Given the description of an element on the screen output the (x, y) to click on. 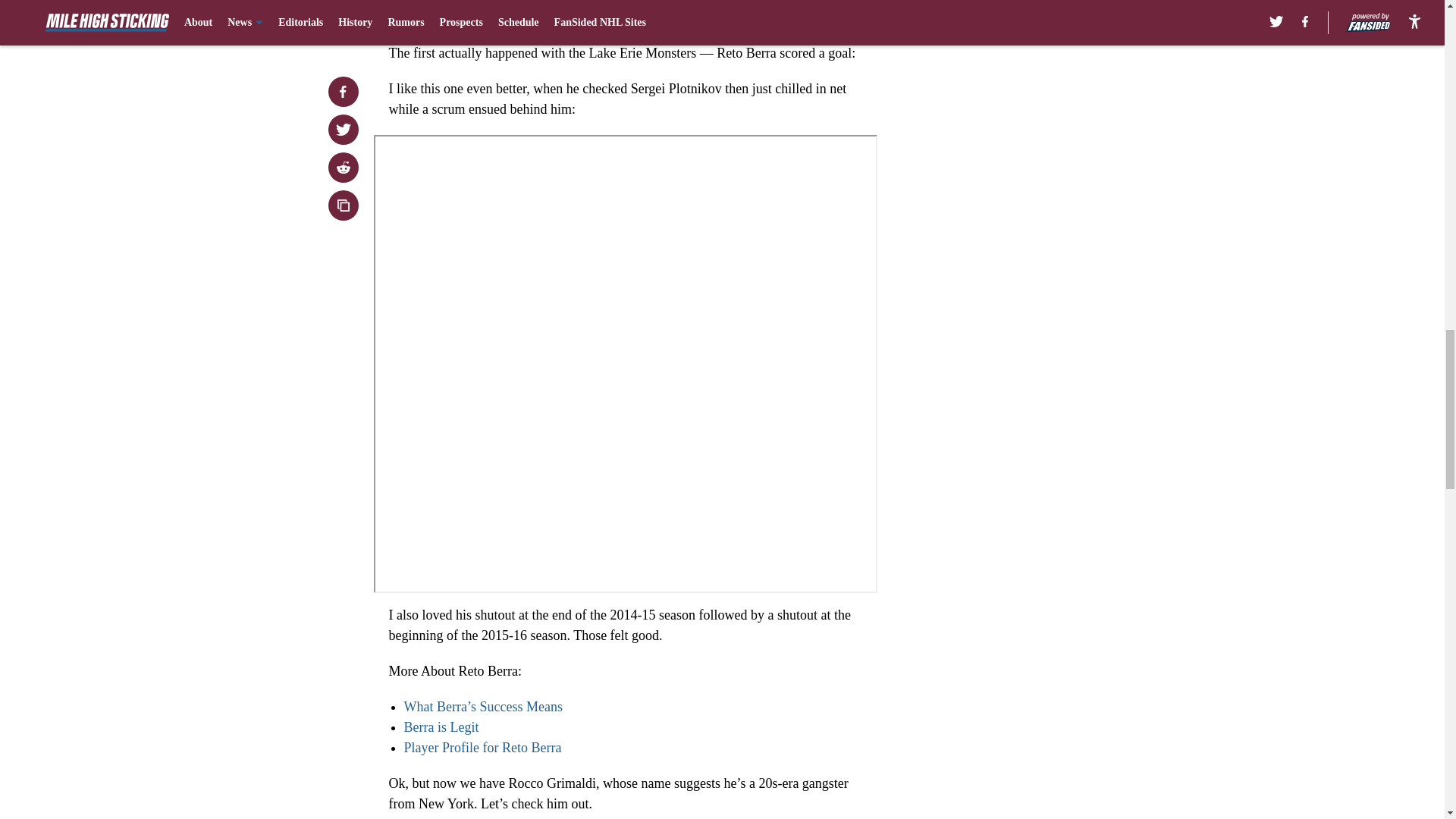
Berra is Legit (441, 726)
Player Profile for Reto Berra (481, 747)
